Given the description of an element on the screen output the (x, y) to click on. 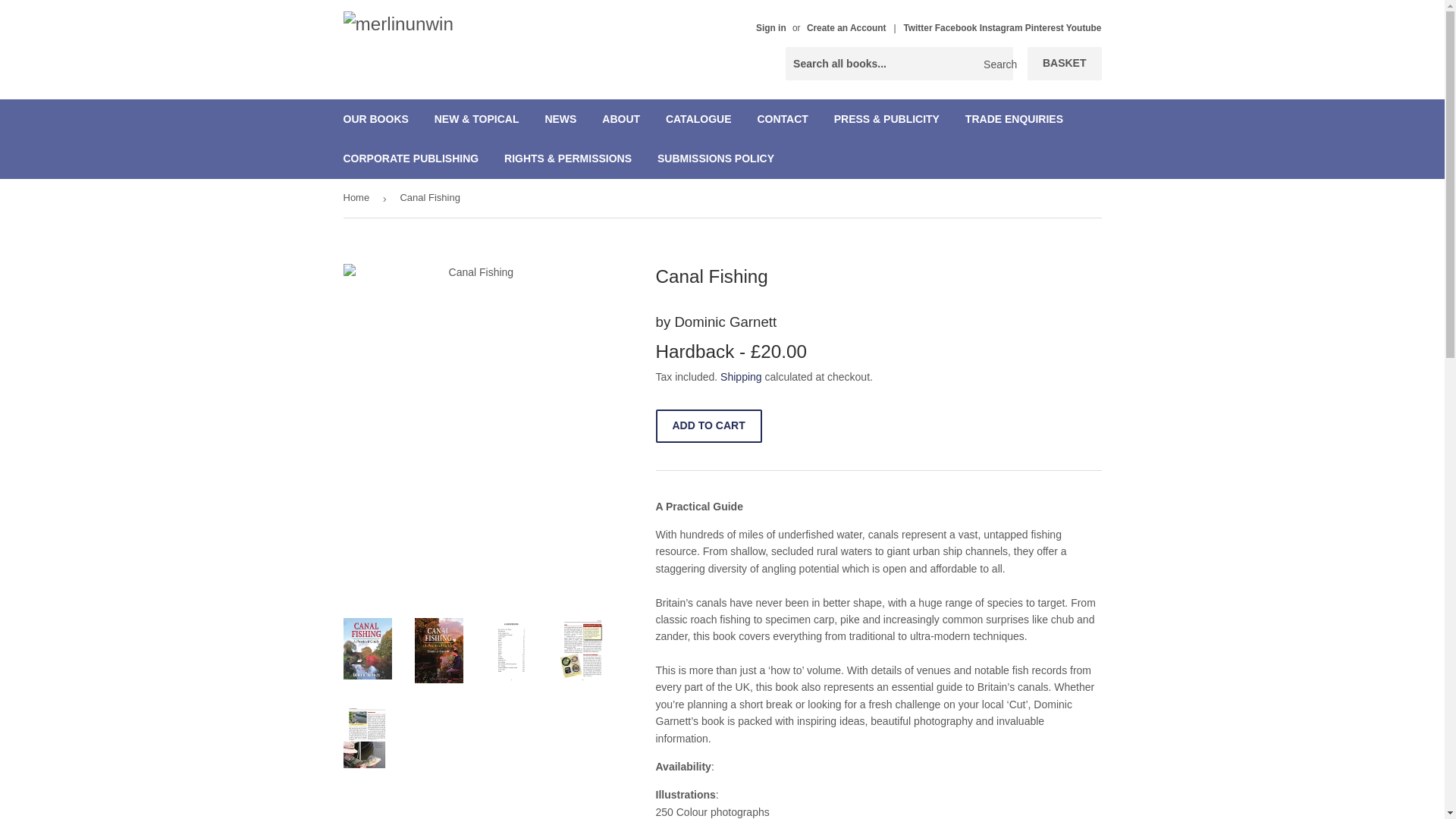
Twitter (918, 27)
Facebook (956, 27)
Pinterest (1045, 27)
Youtube (1083, 27)
Instagram (1002, 27)
merlinunwin on Youtube (1083, 27)
merlinunwin on Twitter (918, 27)
Search (995, 64)
Sign in (770, 27)
Create an Account (846, 27)
